Given the description of an element on the screen output the (x, y) to click on. 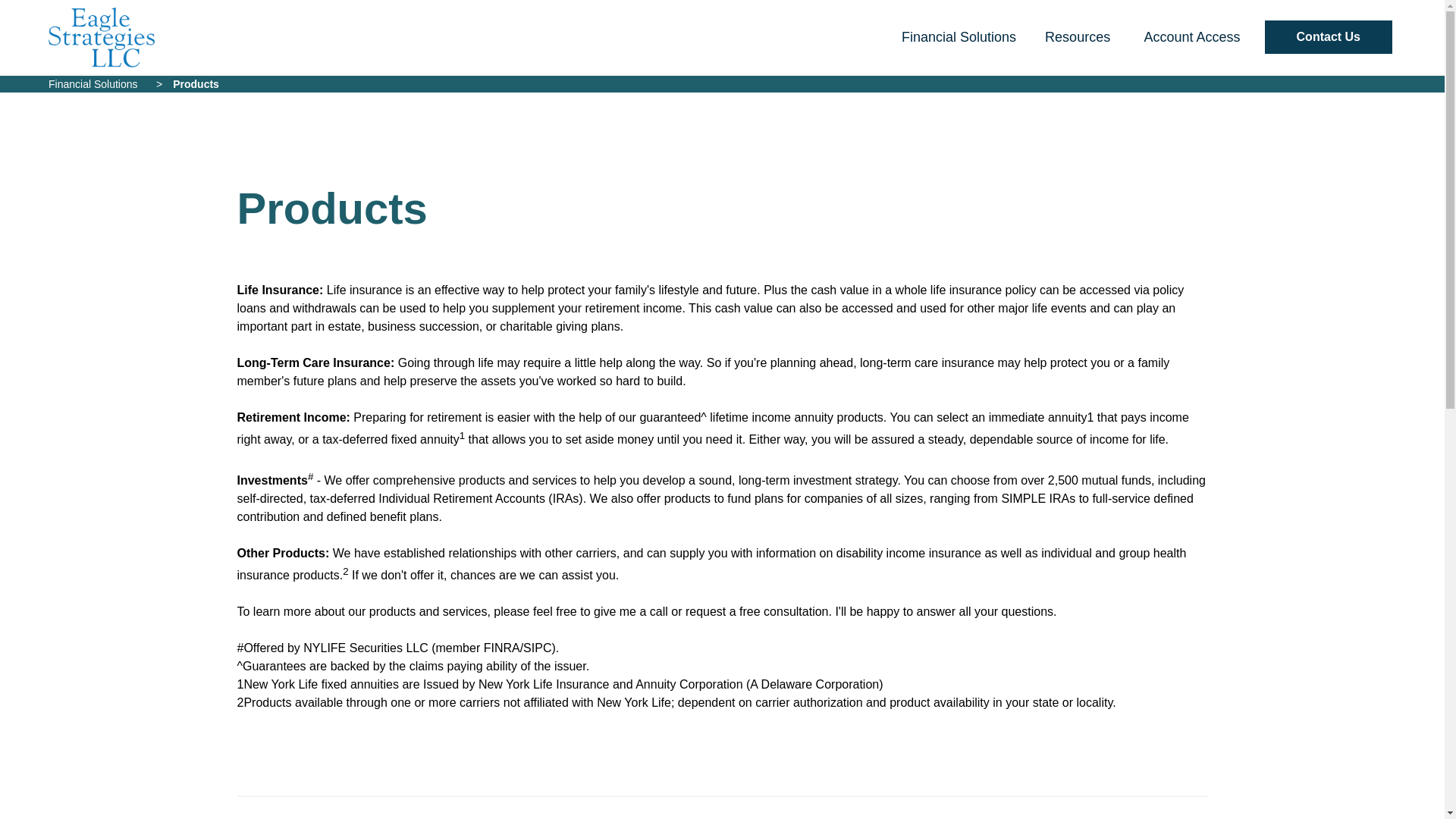
Products (196, 83)
Account Access (1187, 36)
Contact Us (1328, 37)
Financial Solutions (953, 36)
Resources (1075, 36)
